Given the description of an element on the screen output the (x, y) to click on. 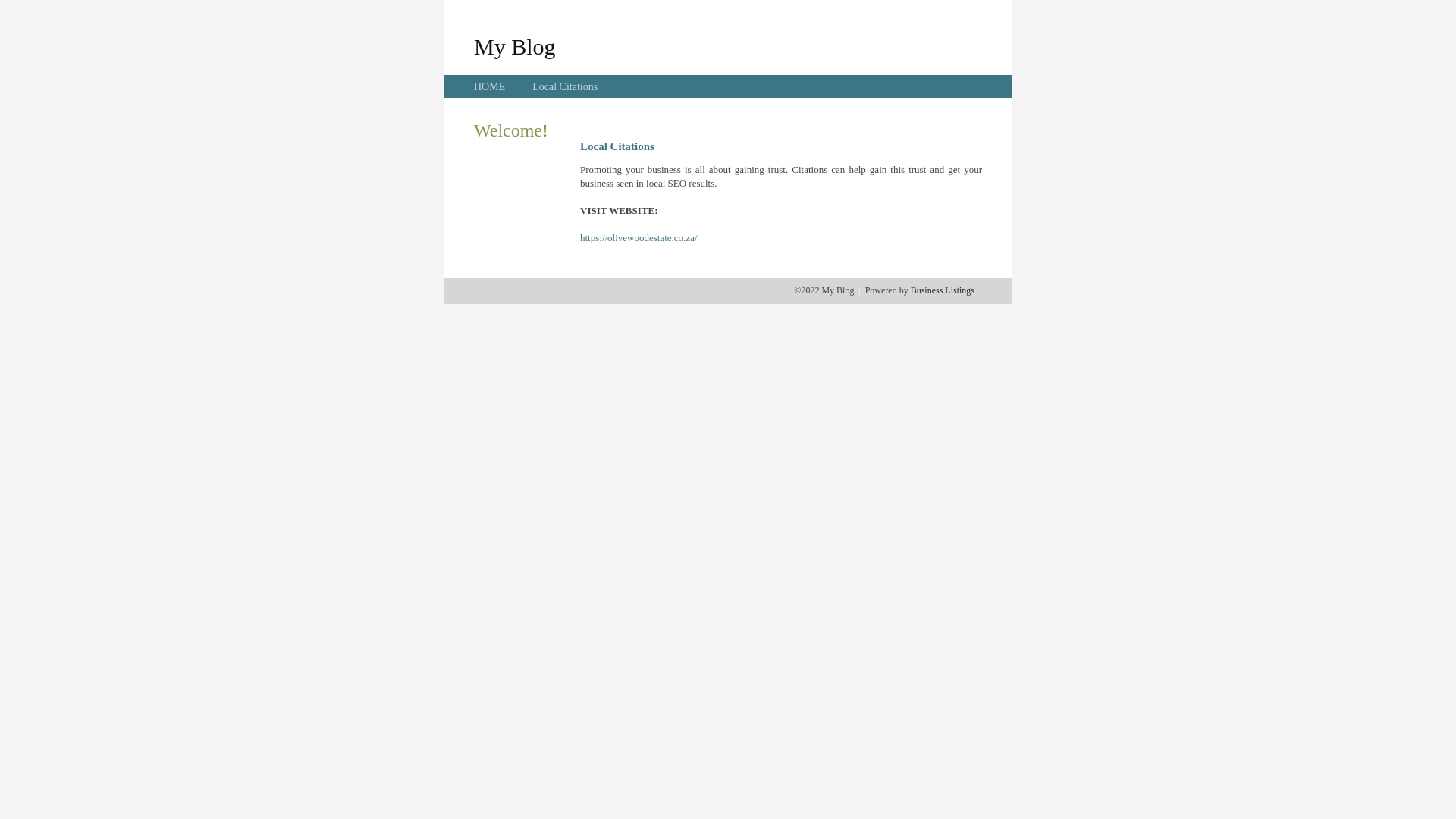
Business Listings Element type: text (942, 290)
Local Citations Element type: text (564, 86)
https://olivewoodestate.co.za/ Element type: text (638, 237)
HOME Element type: text (489, 86)
My Blog Element type: text (514, 46)
